Given the description of an element on the screen output the (x, y) to click on. 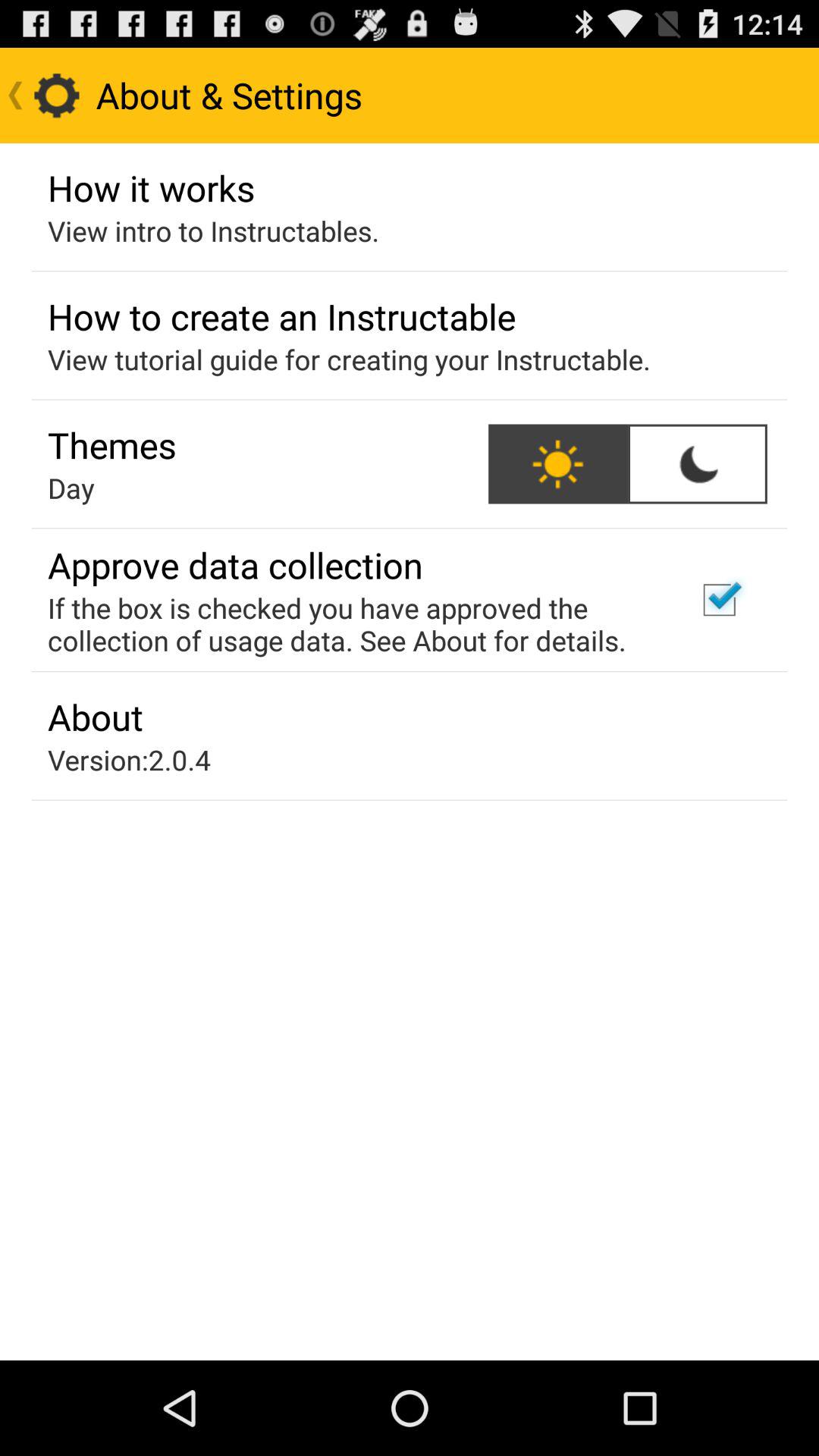
select day icon (70, 487)
